Given the description of an element on the screen output the (x, y) to click on. 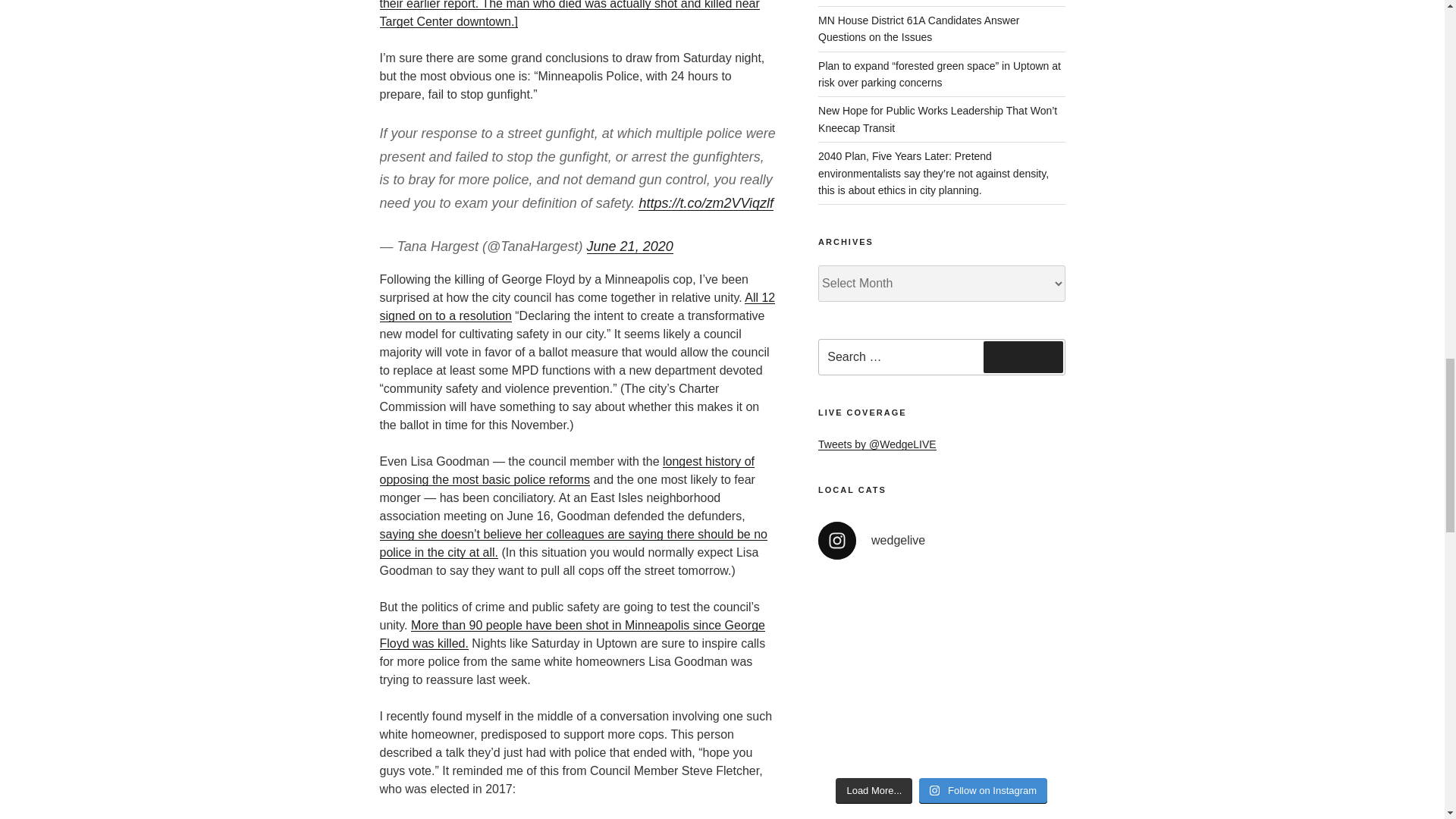
All 12 signed on to a resolution (576, 306)
June 21, 2020 (629, 246)
longest history of opposing the most basic police reforms (566, 470)
